Given the description of an element on the screen output the (x, y) to click on. 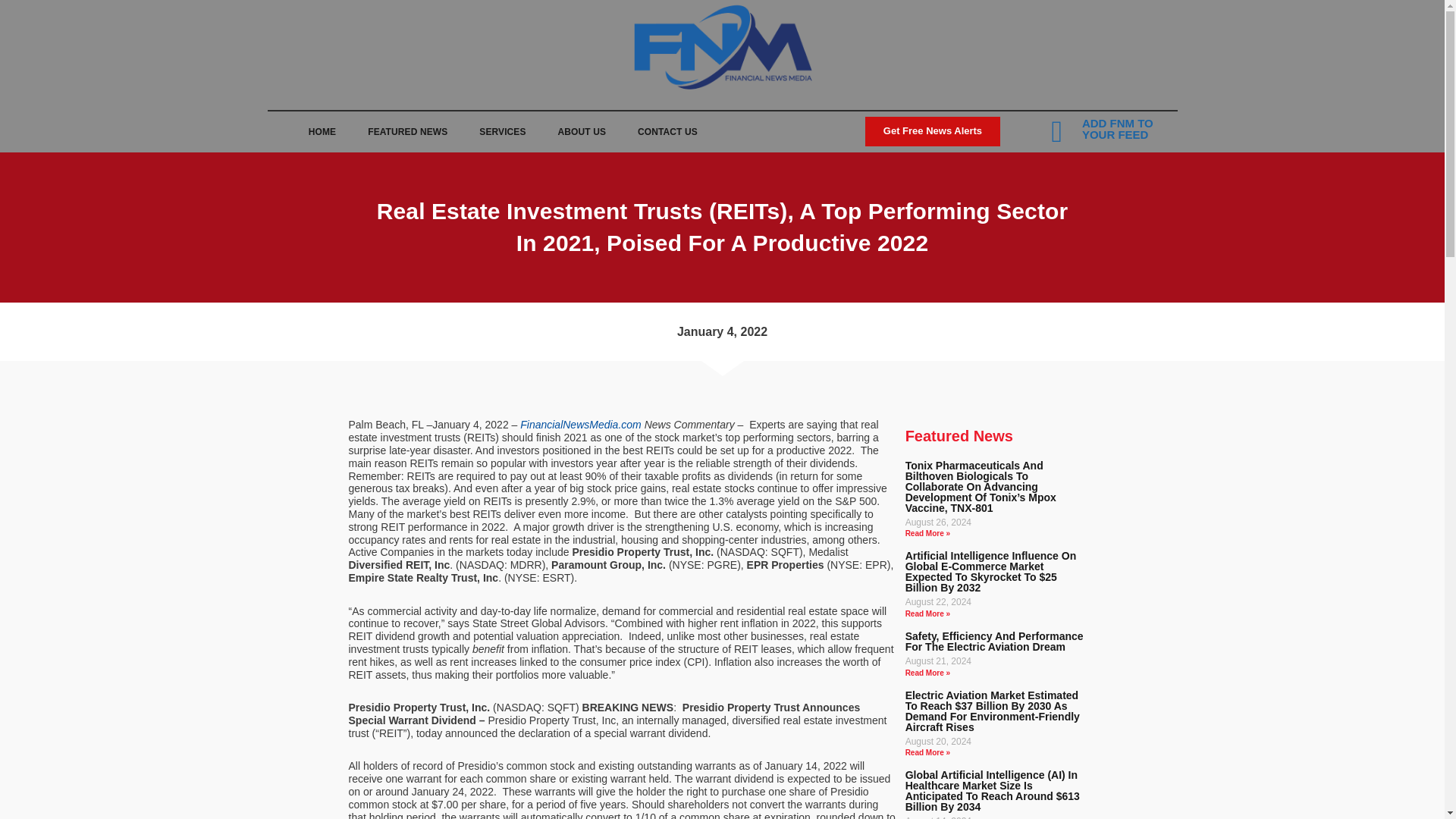
ABOUT US (581, 132)
SERVICES (502, 132)
HOME (322, 132)
CONTACT US (667, 132)
FEATURED NEWS (407, 132)
